Given the description of an element on the screen output the (x, y) to click on. 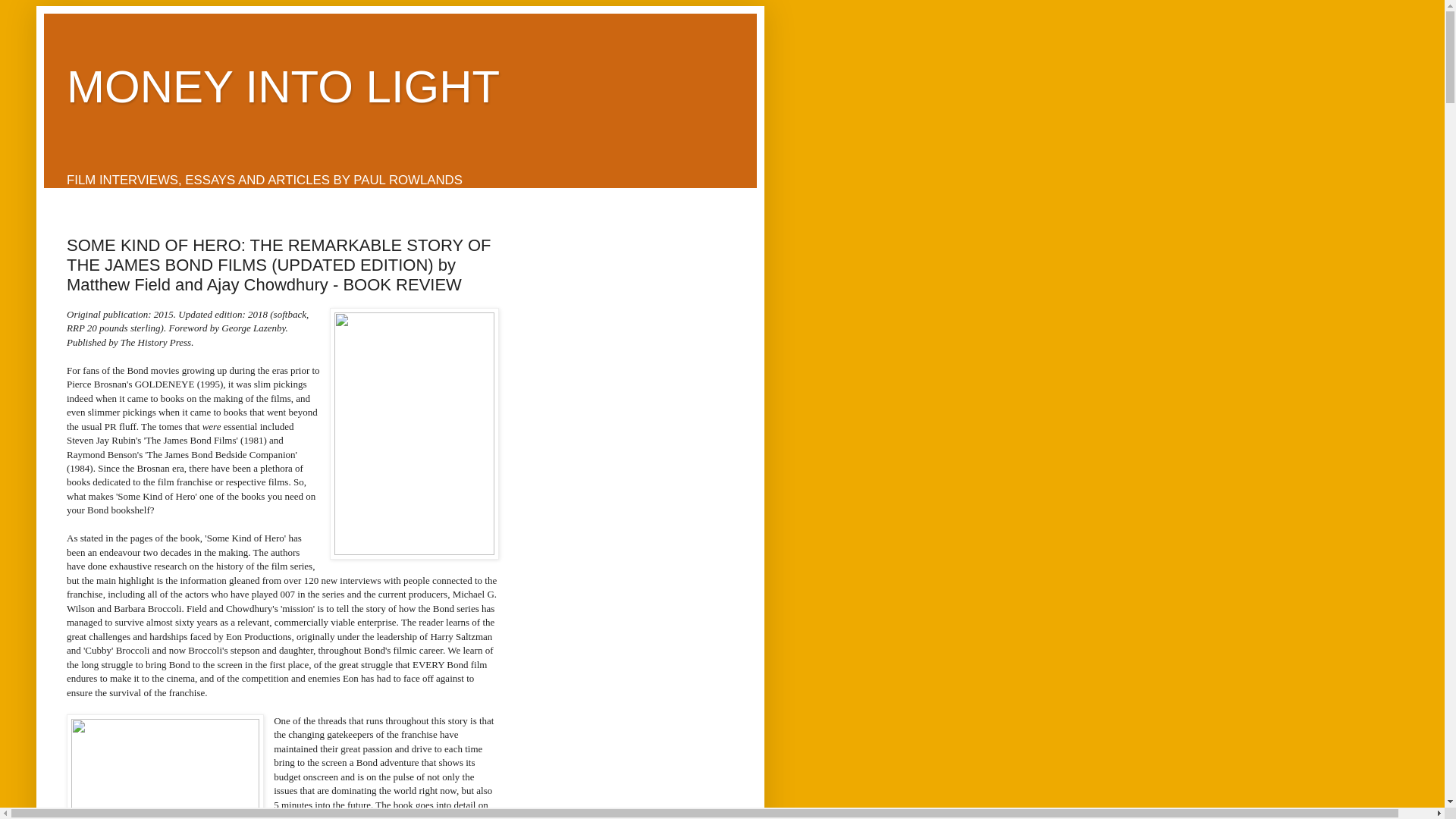
MONEY INTO LIGHT (282, 86)
